Given the description of an element on the screen output the (x, y) to click on. 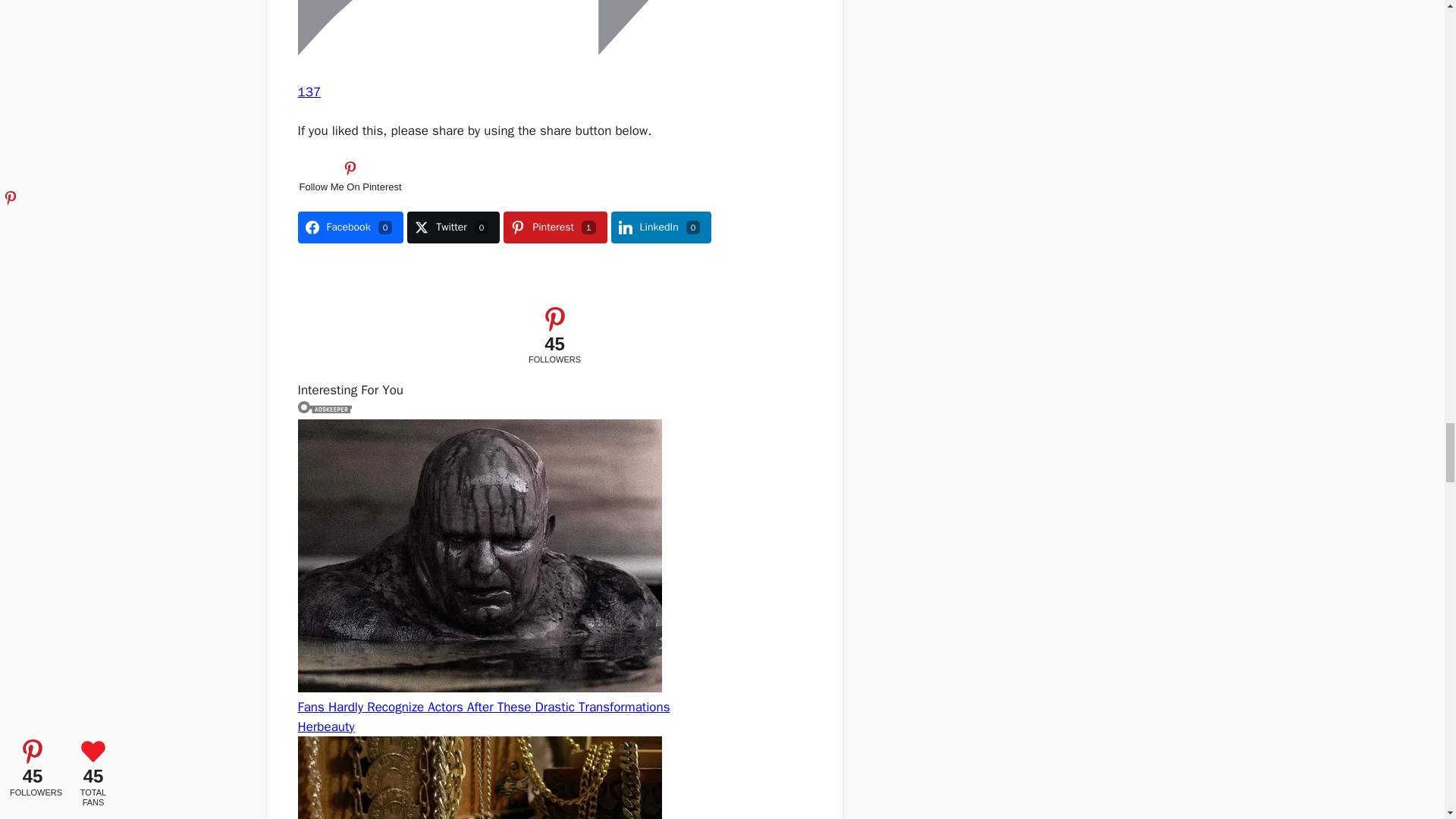
Facebook0 (350, 227)
Share on Pinterest (555, 227)
Pinterest1 (555, 227)
Share on LinkedIn (661, 227)
Share on Facebook (350, 227)
Twitter0 (453, 227)
Share on Twitter (453, 227)
LinkedIn0 (661, 227)
